Given the description of an element on the screen output the (x, y) to click on. 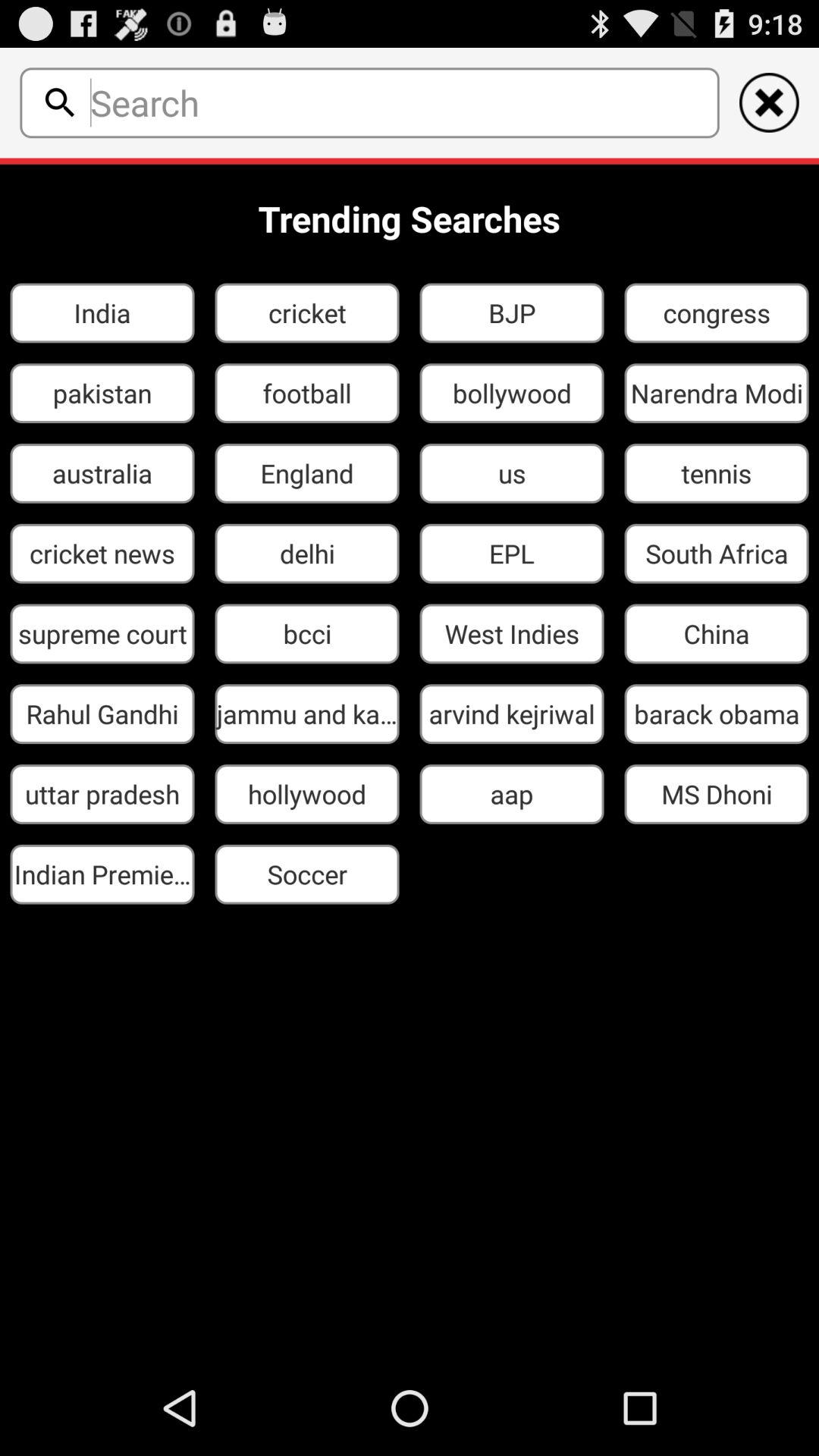
search (399, 102)
